Given the description of an element on the screen output the (x, y) to click on. 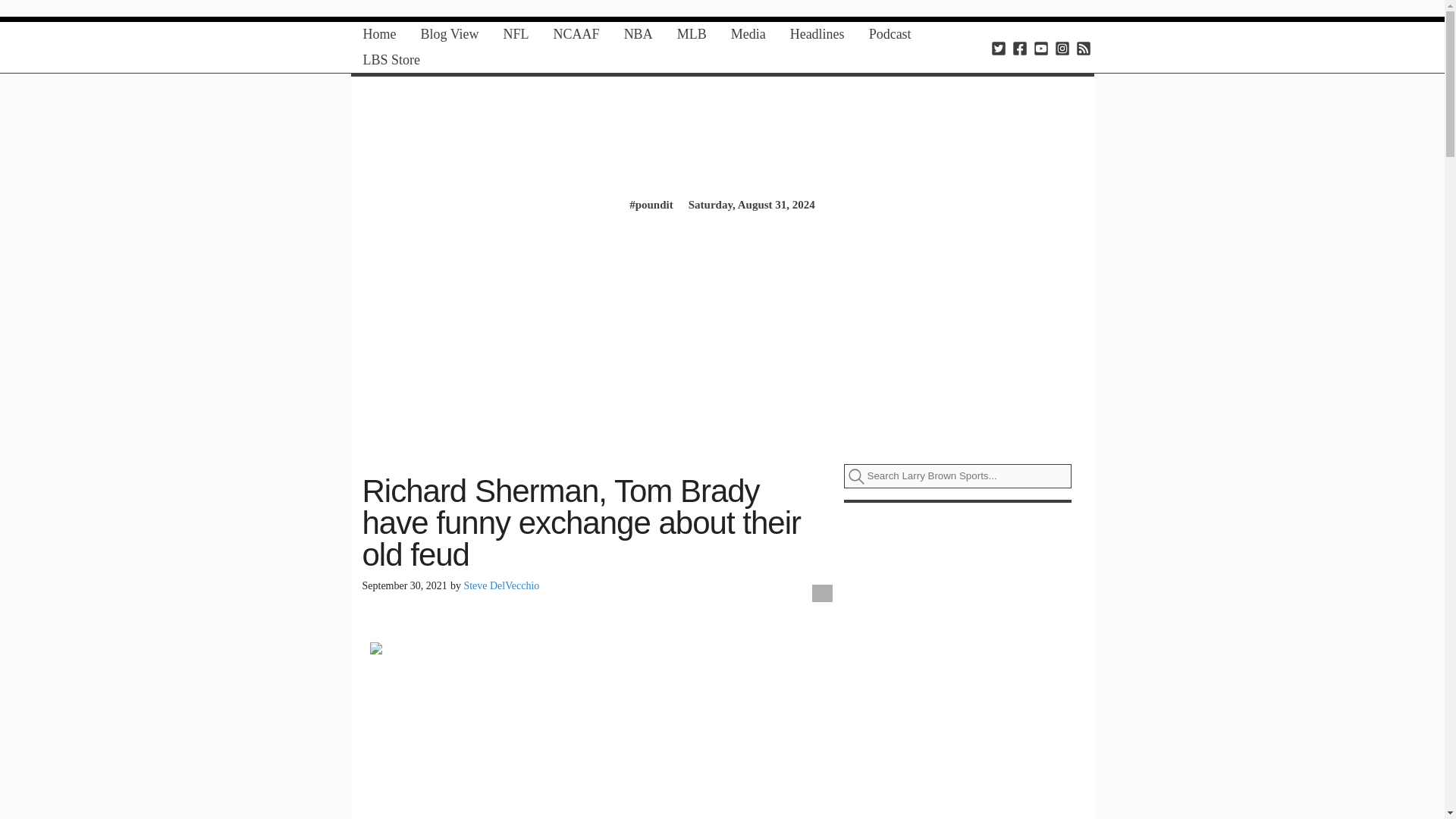
NBA (638, 34)
NFL (516, 34)
View Larry Brown Sports Instagram (1061, 47)
Podcast (890, 34)
View Larry Brown Sports Twitter (998, 47)
MLB (692, 34)
Home (378, 34)
Steve DelVecchio (500, 585)
Subscribe to Larry Brown Sports RSS Feed (1082, 47)
Headlines (817, 34)
